Given the description of an element on the screen output the (x, y) to click on. 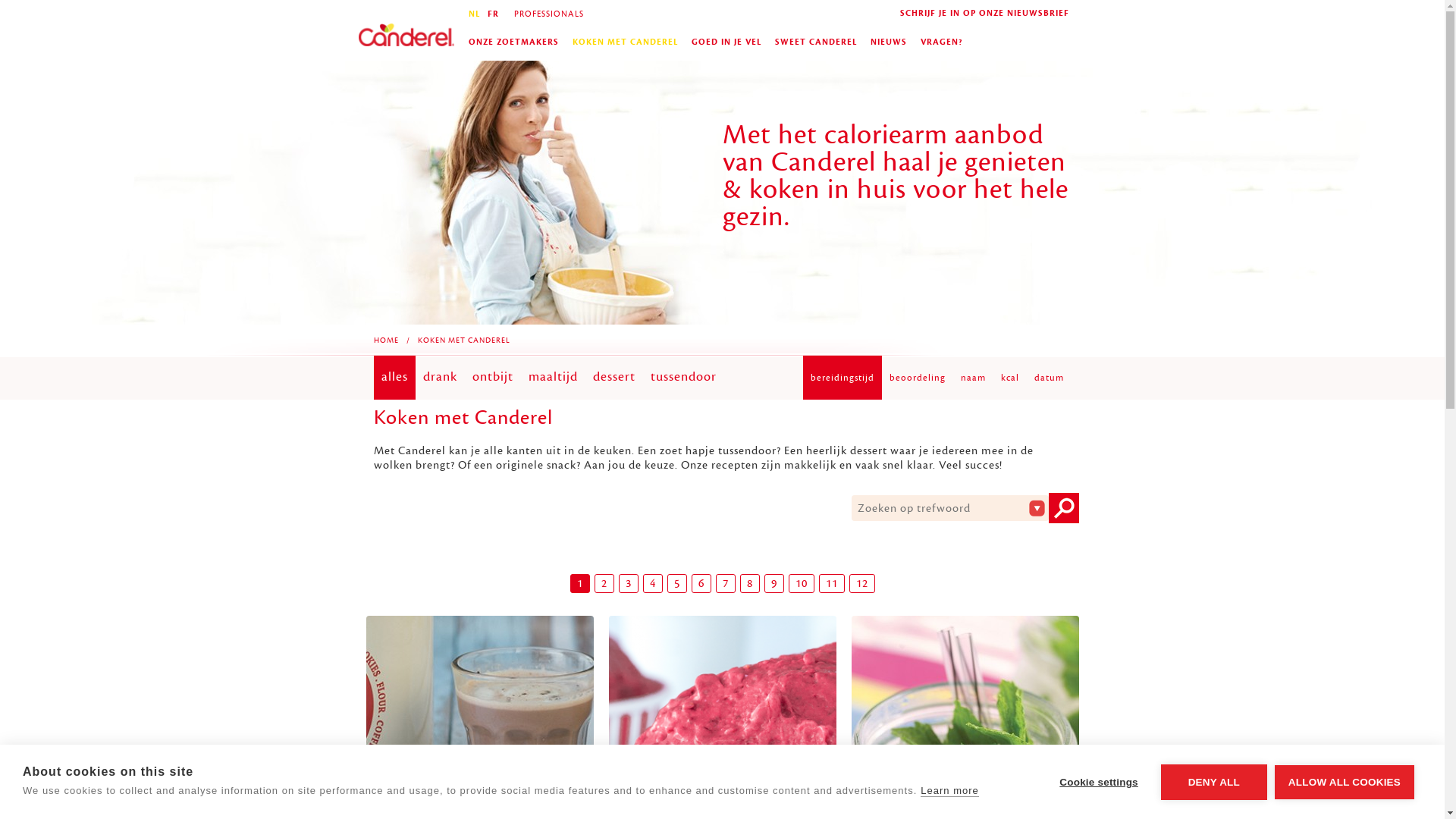
bereidingstijd Element type: text (841, 377)
naam Element type: text (972, 377)
ALLOW ALL COOKIES Element type: text (1344, 781)
KOKEN MET CANDEREL Element type: text (625, 41)
ONZE ZOETMAKERS Element type: text (512, 41)
datum Element type: text (1048, 377)
kcal Element type: text (1009, 377)
Zoek Element type: text (1061, 507)
dessert Element type: text (614, 377)
7 Element type: text (725, 583)
tussendoor Element type: text (683, 377)
alles Element type: text (393, 377)
VRAGEN? Element type: text (940, 41)
DENY ALL Element type: text (1214, 782)
NL Element type: text (473, 13)
ontbijt Element type: text (492, 377)
HOME Element type: text (385, 340)
FR Element type: text (493, 13)
SCHRIJF JE IN OP ONZE NIEUWSBRIEF Element type: text (984, 12)
9 Element type: text (774, 583)
12 Element type: text (862, 583)
4 Element type: text (652, 583)
NIEUWS Element type: text (887, 41)
2 Element type: text (604, 583)
3 Element type: text (628, 583)
Cookie settings Element type: text (1098, 782)
PROFESSIONALS Element type: text (546, 13)
SWEET CANDEREL Element type: text (814, 41)
11 Element type: text (831, 583)
5 Element type: text (677, 583)
maaltijd Element type: text (552, 377)
8 Element type: text (749, 583)
drank Element type: text (439, 377)
10 Element type: text (801, 583)
6 Element type: text (701, 583)
Learn more Element type: text (949, 790)
GOED IN JE VEL Element type: text (725, 41)
beoordeling Element type: text (916, 377)
